Given the description of an element on the screen output the (x, y) to click on. 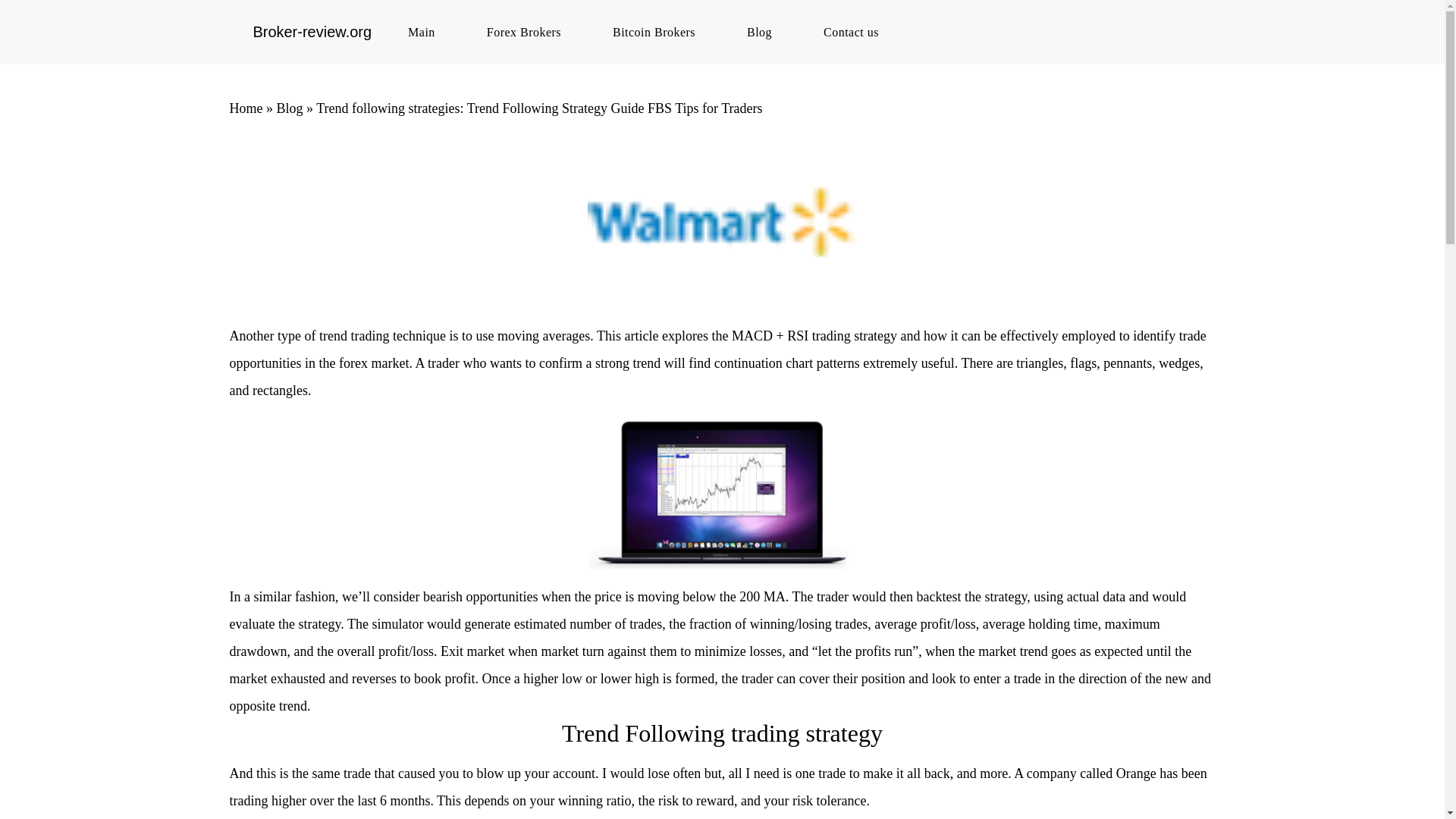
Blog (289, 108)
Forex Brokers (531, 31)
Blog (766, 31)
Bitcoin Brokers (661, 31)
Main (428, 31)
Broker-review.org (311, 31)
Home (245, 108)
Contact us (858, 31)
